Given the description of an element on the screen output the (x, y) to click on. 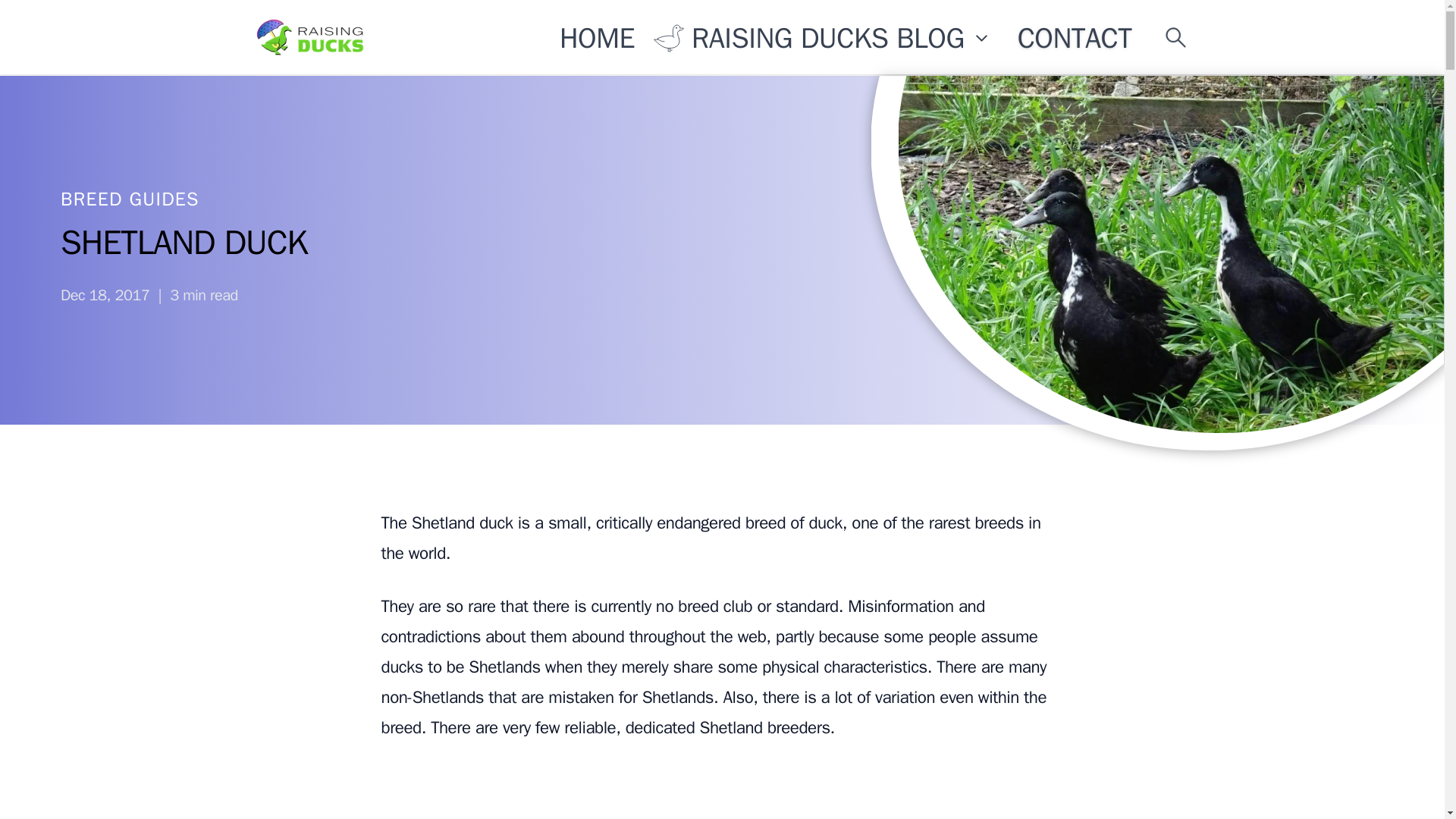
HOME (597, 32)
RAISING DUCKS BLOG (822, 38)
Advertisement (721, 792)
CONTACT (1074, 40)
